Given the description of an element on the screen output the (x, y) to click on. 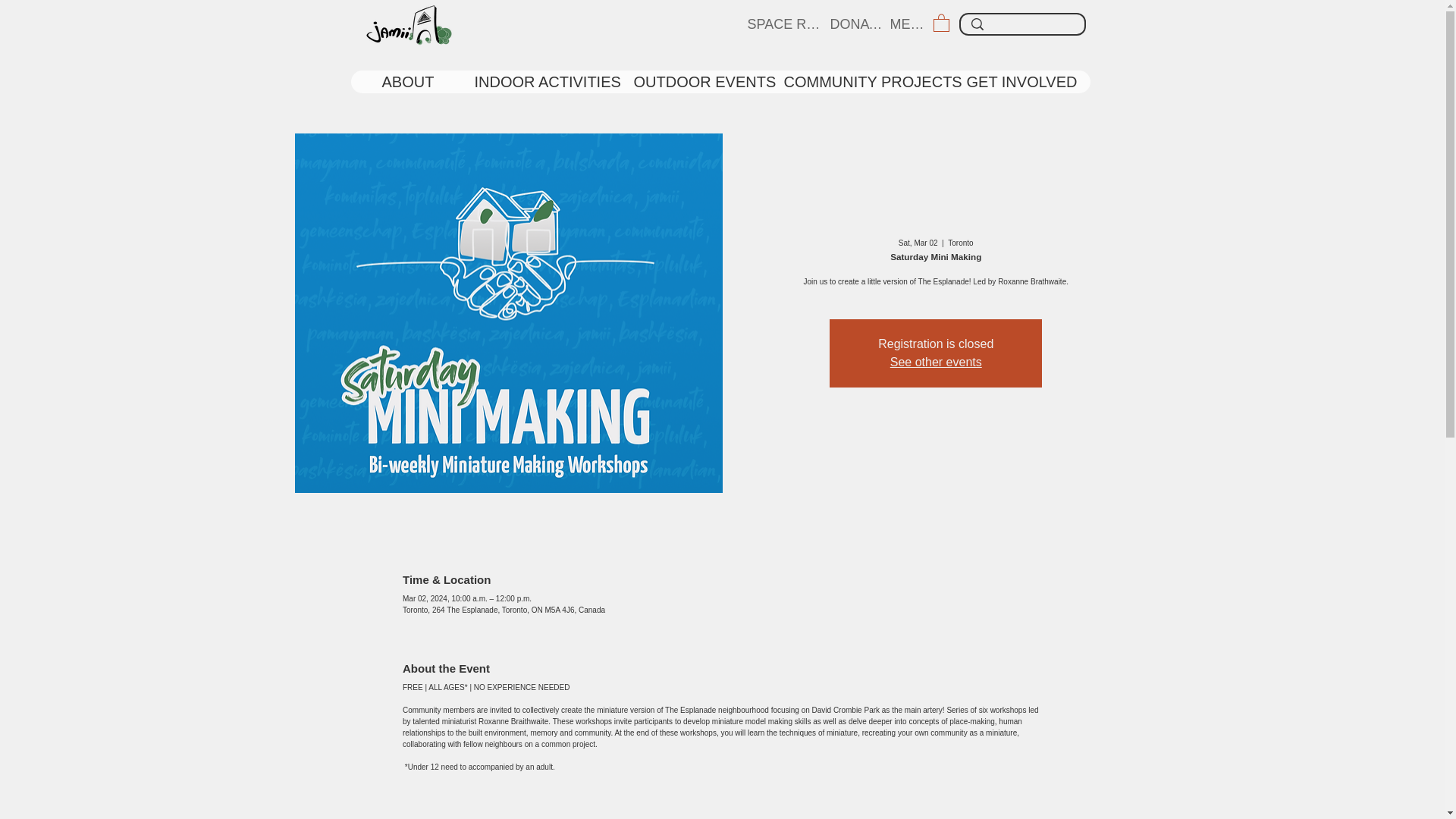
OUTDOOR EVENTS (696, 81)
COMMUNITY PROJECTS (863, 81)
INDOOR ACTIVITIES (542, 81)
ABOUT (416, 81)
SPACE RENTAL (787, 24)
MERCH (912, 24)
DONATE (857, 24)
